Given the description of an element on the screen output the (x, y) to click on. 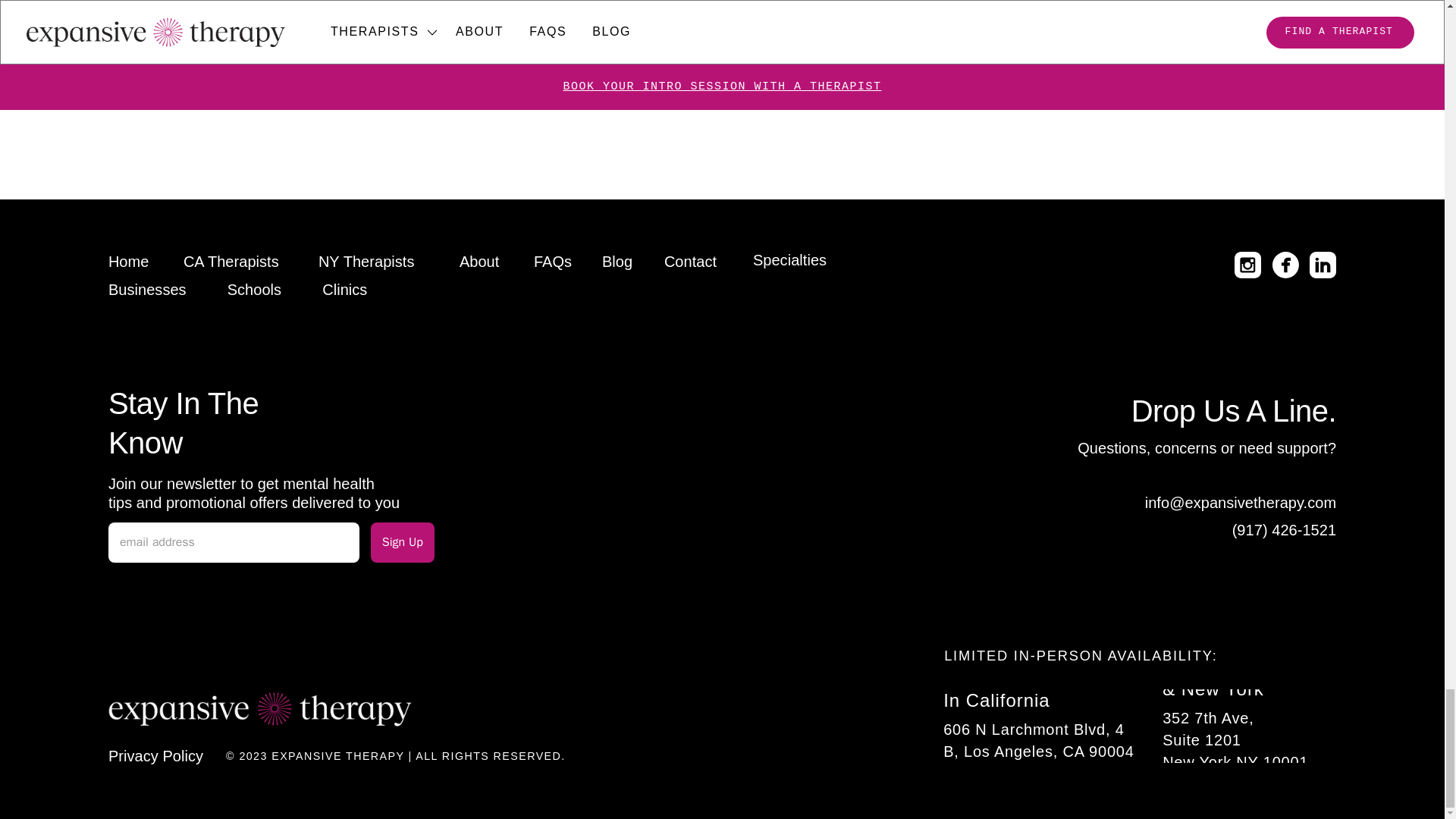
Privacy Policy (155, 754)
About (479, 261)
CA Therapists (231, 261)
Specialties (789, 259)
Schools (254, 289)
Home (128, 261)
Blog (616, 261)
Sign Up (402, 541)
FAQs (553, 261)
Contact (689, 261)
NY Therapists (366, 261)
Clinics (921, 4)
